Given the description of an element on the screen output the (x, y) to click on. 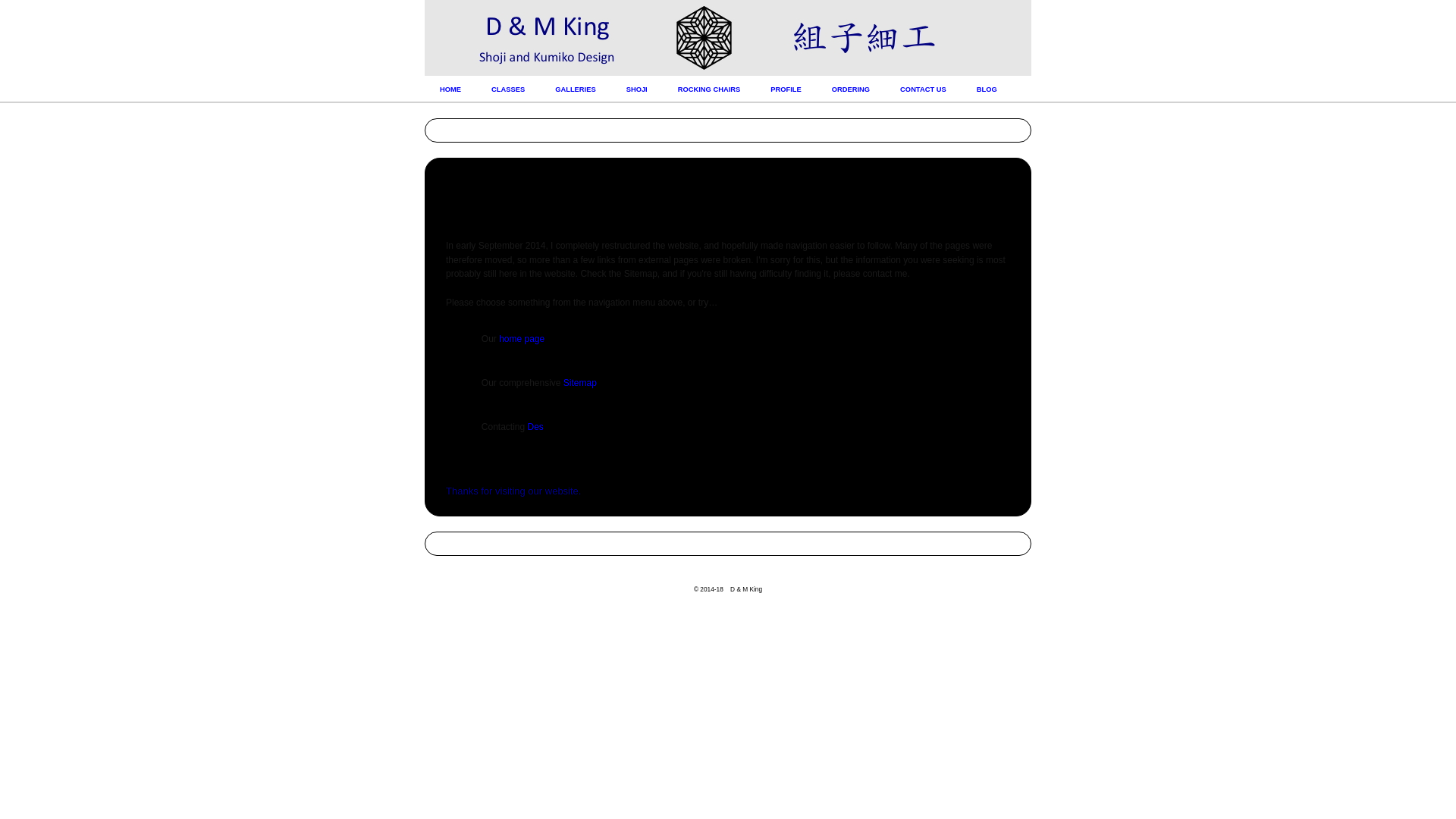
PROFILE Element type: text (785, 89)
HOME Element type: text (450, 89)
GALLERIES Element type: text (574, 89)
Des Element type: text (535, 426)
ORDERING Element type: text (850, 89)
SHOJI Element type: text (636, 89)
home page Element type: text (521, 338)
BLOG Element type: text (986, 89)
CONTACT US Element type: text (922, 89)
CLASSES Element type: text (507, 89)
Sitemap Element type: text (579, 382)
ROCKING CHAIRS Element type: text (709, 89)
